Given the description of an element on the screen output the (x, y) to click on. 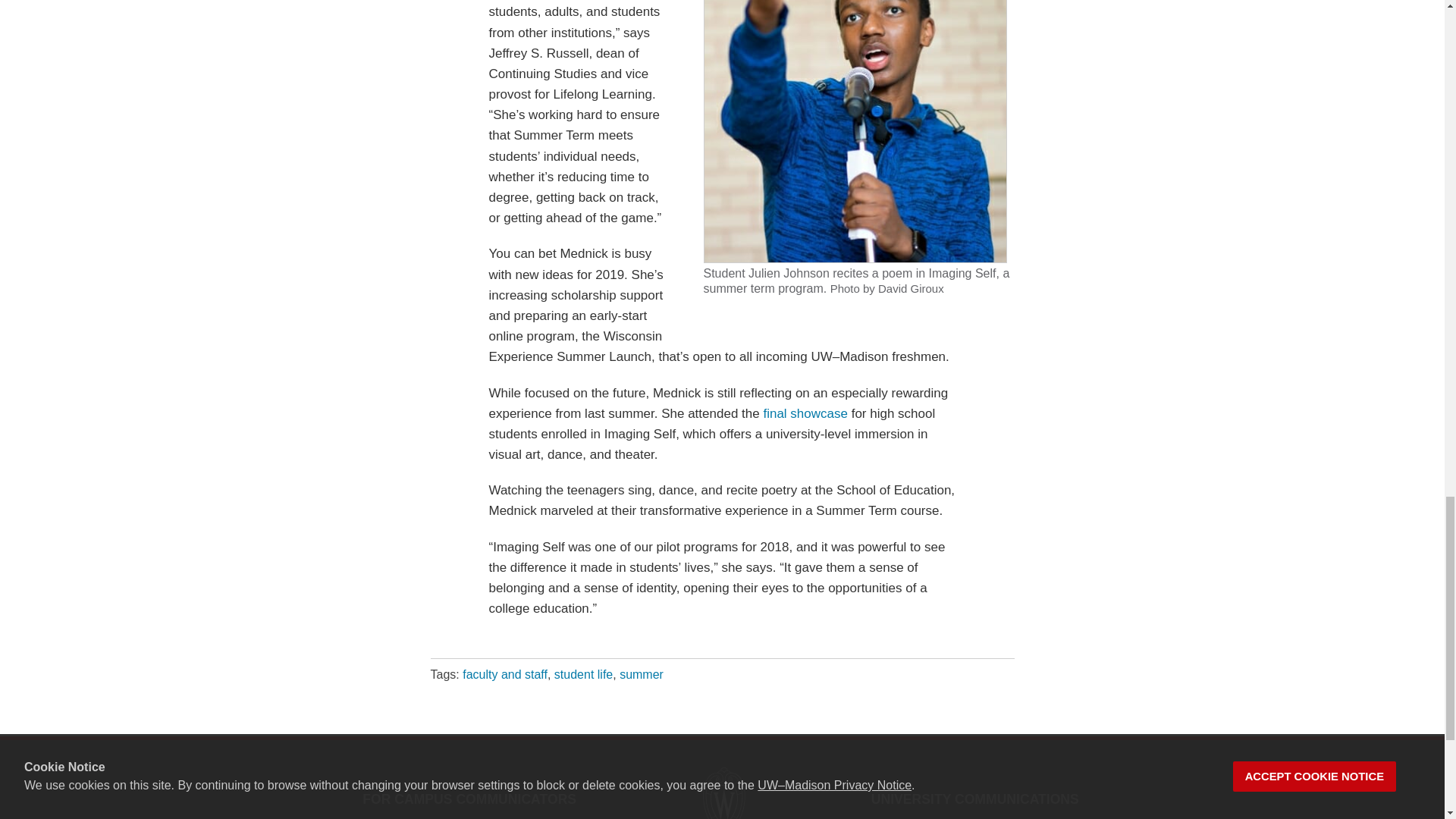
student life (583, 674)
summer (641, 674)
faculty and staff (505, 674)
final showcase (804, 413)
University logo that links to main university website (721, 793)
